Given the description of an element on the screen output the (x, y) to click on. 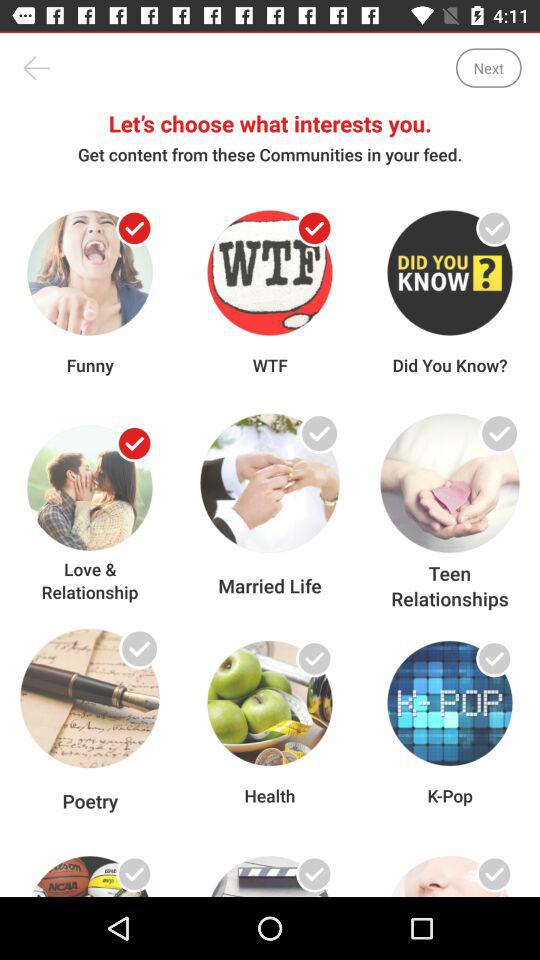
save link (314, 873)
